Given the description of an element on the screen output the (x, y) to click on. 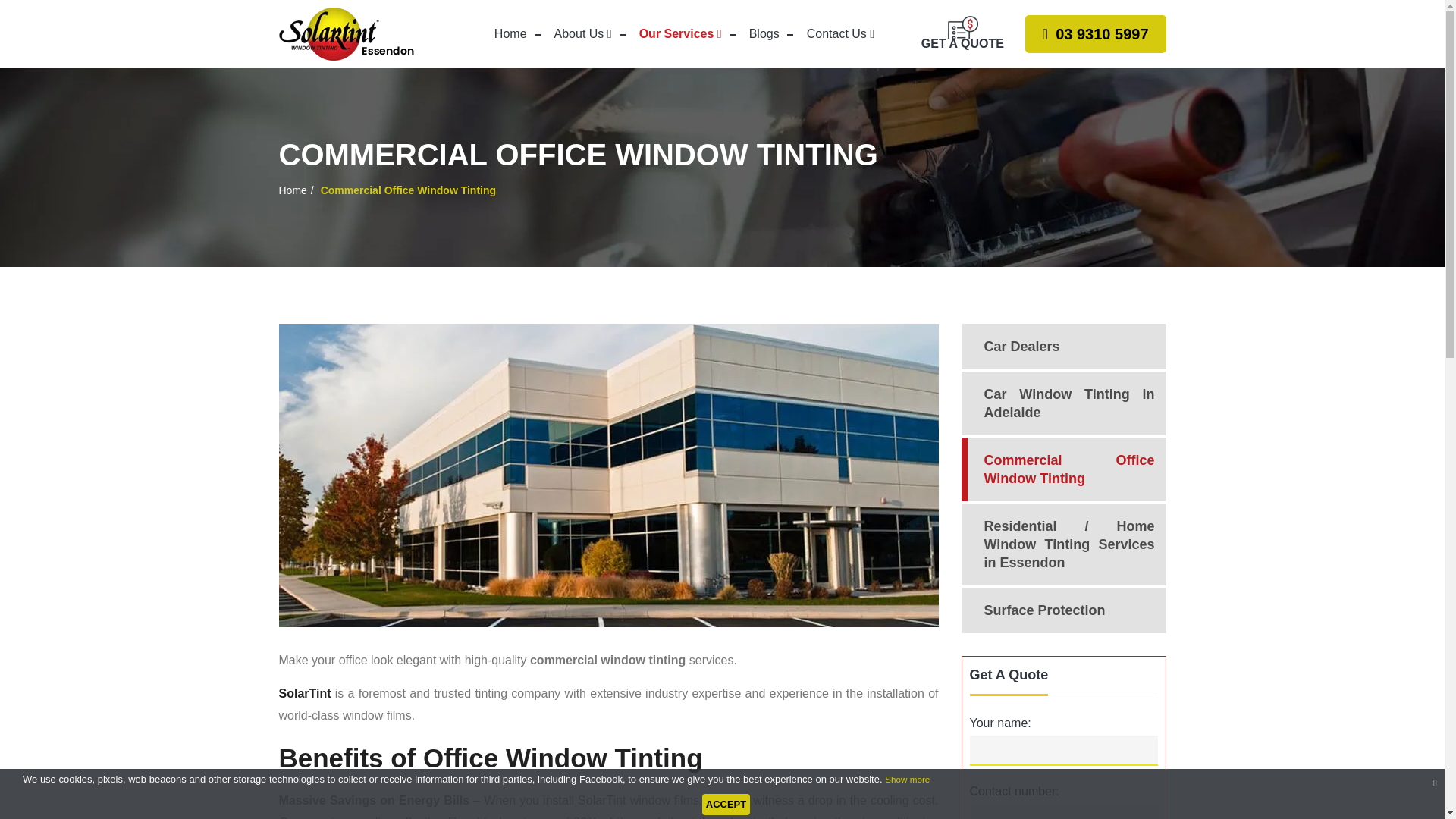
Blogs (764, 34)
Home (293, 189)
Commercial Office Window Tinting (1063, 469)
Our Services (680, 34)
GET A QUOTE (962, 33)
Home (510, 34)
Home (510, 34)
Car Window Tinting in Adelaide (1063, 402)
Contact Us (840, 34)
About Us (583, 34)
Blogs (764, 34)
03 9310 5997 (1095, 34)
Car Dealers (1063, 346)
SolarTint (305, 694)
About Us (583, 34)
